Given the description of an element on the screen output the (x, y) to click on. 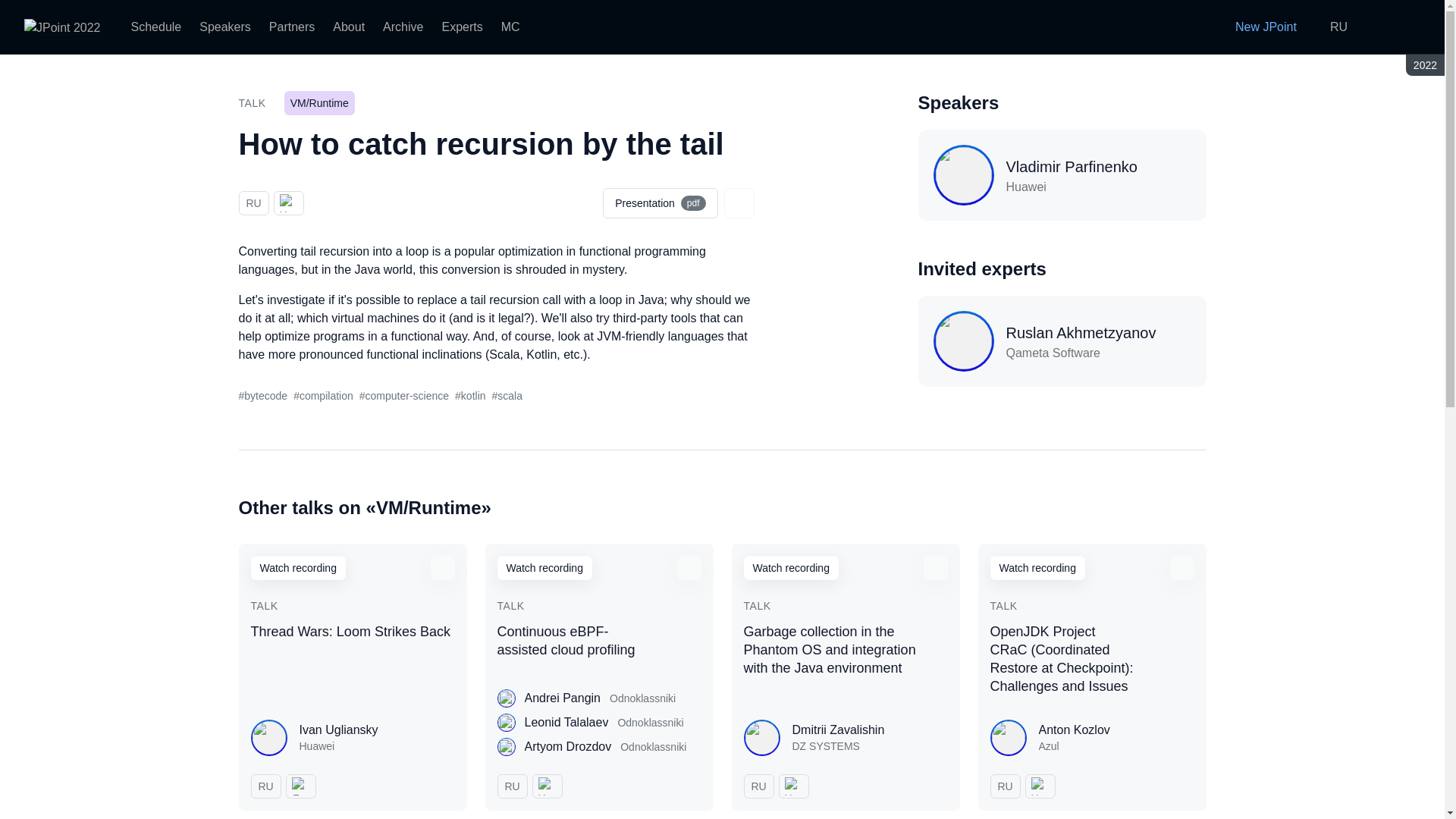
Talk complexity - (287, 202)
MC (510, 27)
Partners (291, 27)
Talk complexity - (547, 785)
Artyom Drozdov (567, 746)
Andrei Pangin (562, 698)
New JPoint (1255, 27)
Leonid Talalaev (659, 203)
Ruslan Akhmetzyanov (566, 722)
